Given the description of an element on the screen output the (x, y) to click on. 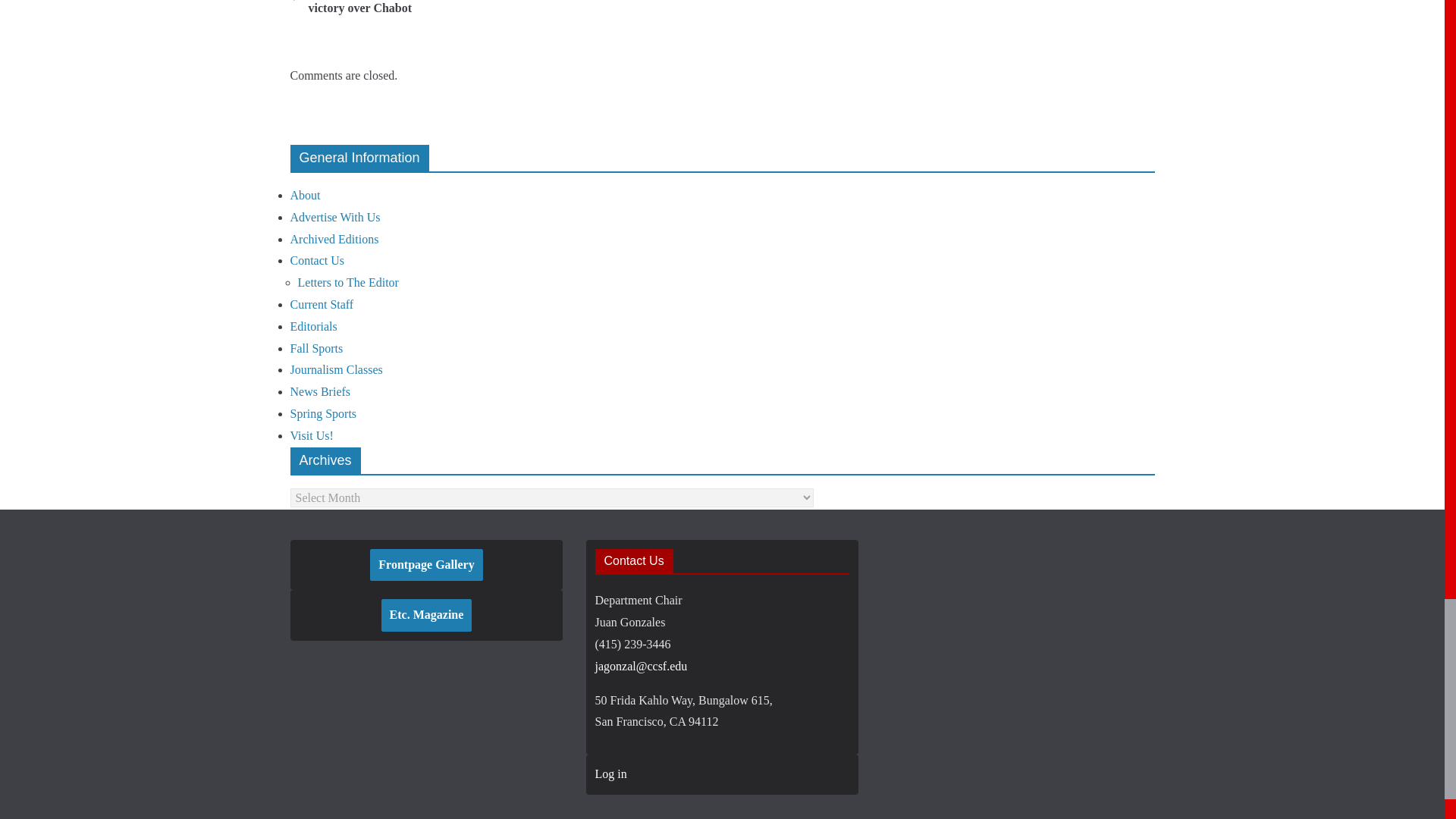
About (304, 195)
Current Staff (321, 304)
Contact Us (316, 259)
Advertise With Us (334, 216)
Letters to The Editor (347, 282)
News Briefs (319, 391)
Journalism Classes (335, 369)
Editorials (312, 326)
Fall Sports (315, 348)
Archived Editions (333, 238)
